Given the description of an element on the screen output the (x, y) to click on. 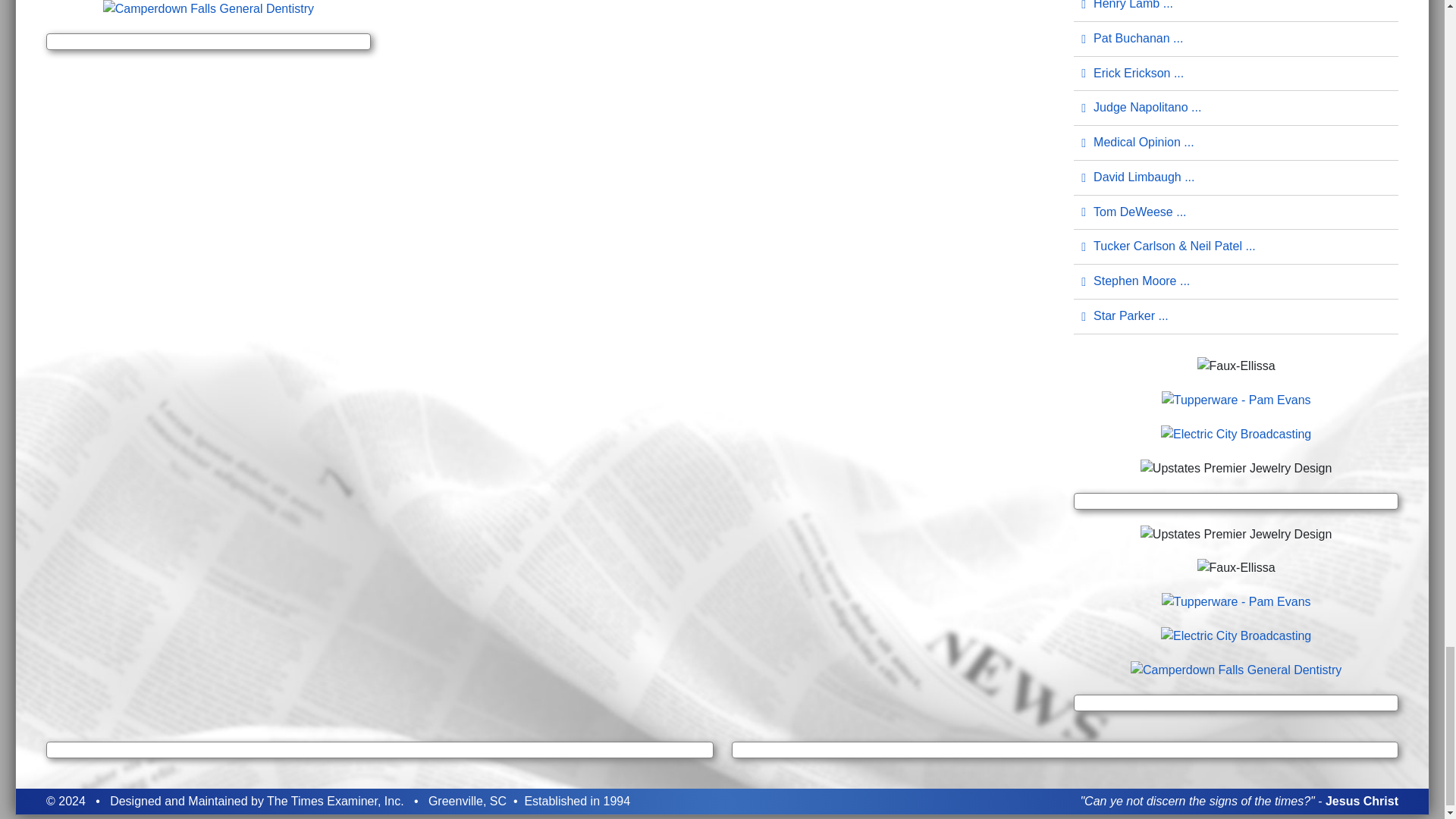
Tupperware - Pam Evans (1236, 399)
Electric City Broadcasting (1235, 432)
Camperdown Falls General Dentistry (1235, 668)
Electric City Broadcasting (1235, 634)
Tupperware - Pam Evans (1236, 600)
